Given the description of an element on the screen output the (x, y) to click on. 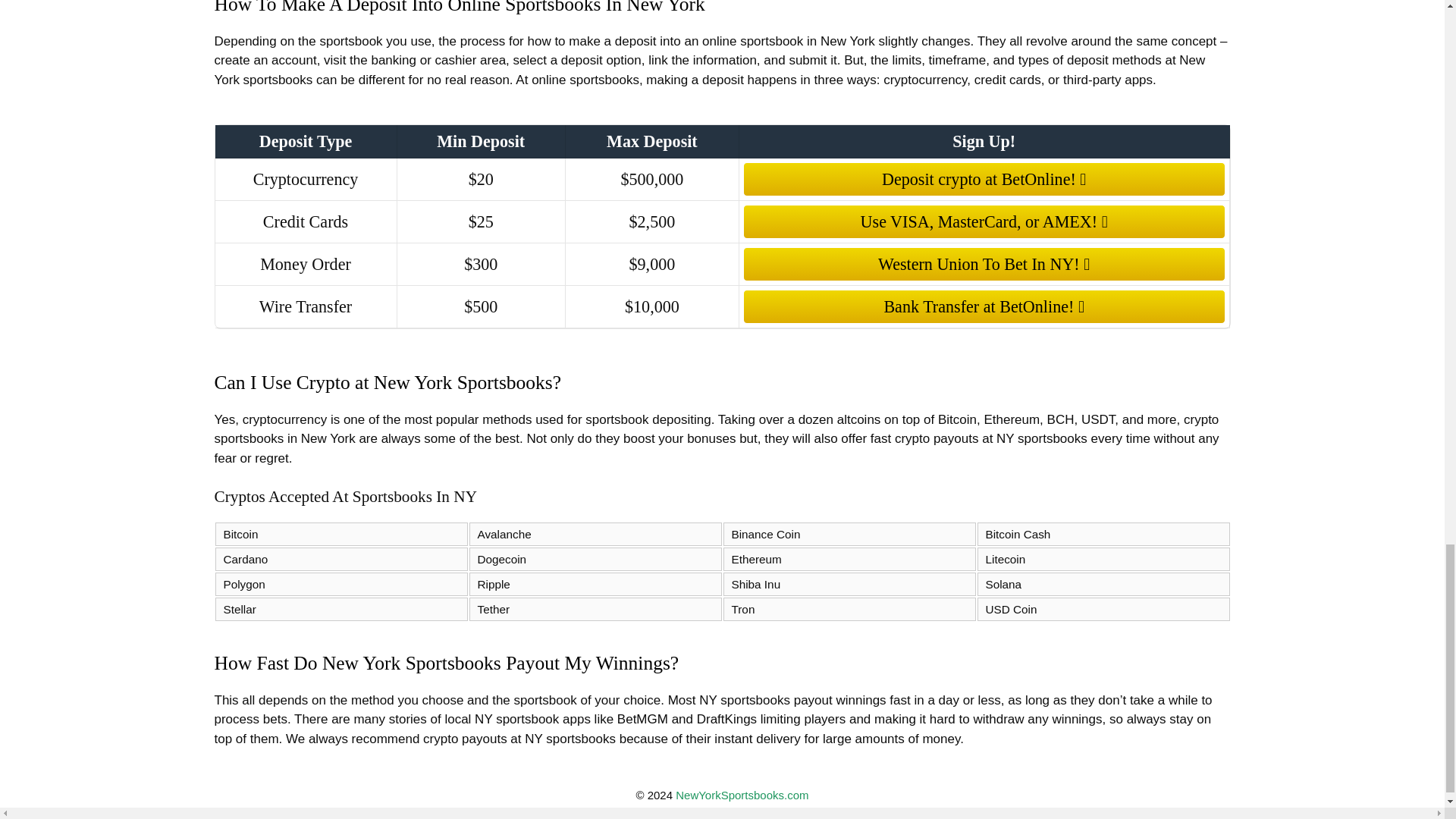
Use VISA, MasterCard, or AMEX! (983, 221)
Bank Transfer at BetOnline! (983, 306)
Western Union To Bet In NY! (983, 264)
Use VISA, MasterCard, or AMEX! (983, 221)
Deposit crypto at BetOnline! (983, 179)
Bank Transfer at BetOnline! (983, 306)
Western Union To Bet In NY! (983, 264)
Deposit crypto at BetOnline! (983, 179)
NewYorkSportsbooks.com (741, 794)
